Given the description of an element on the screen output the (x, y) to click on. 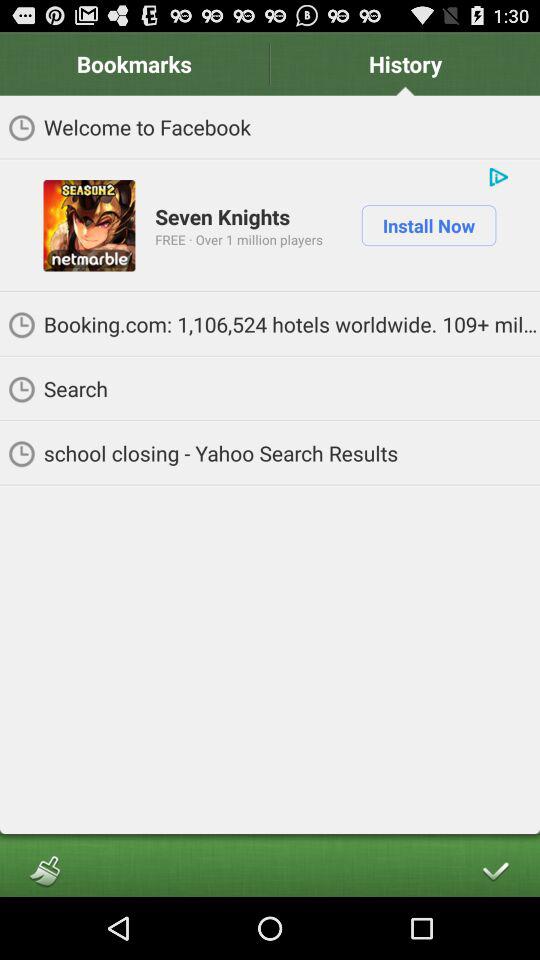
flip to the install now item (428, 225)
